Given the description of an element on the screen output the (x, y) to click on. 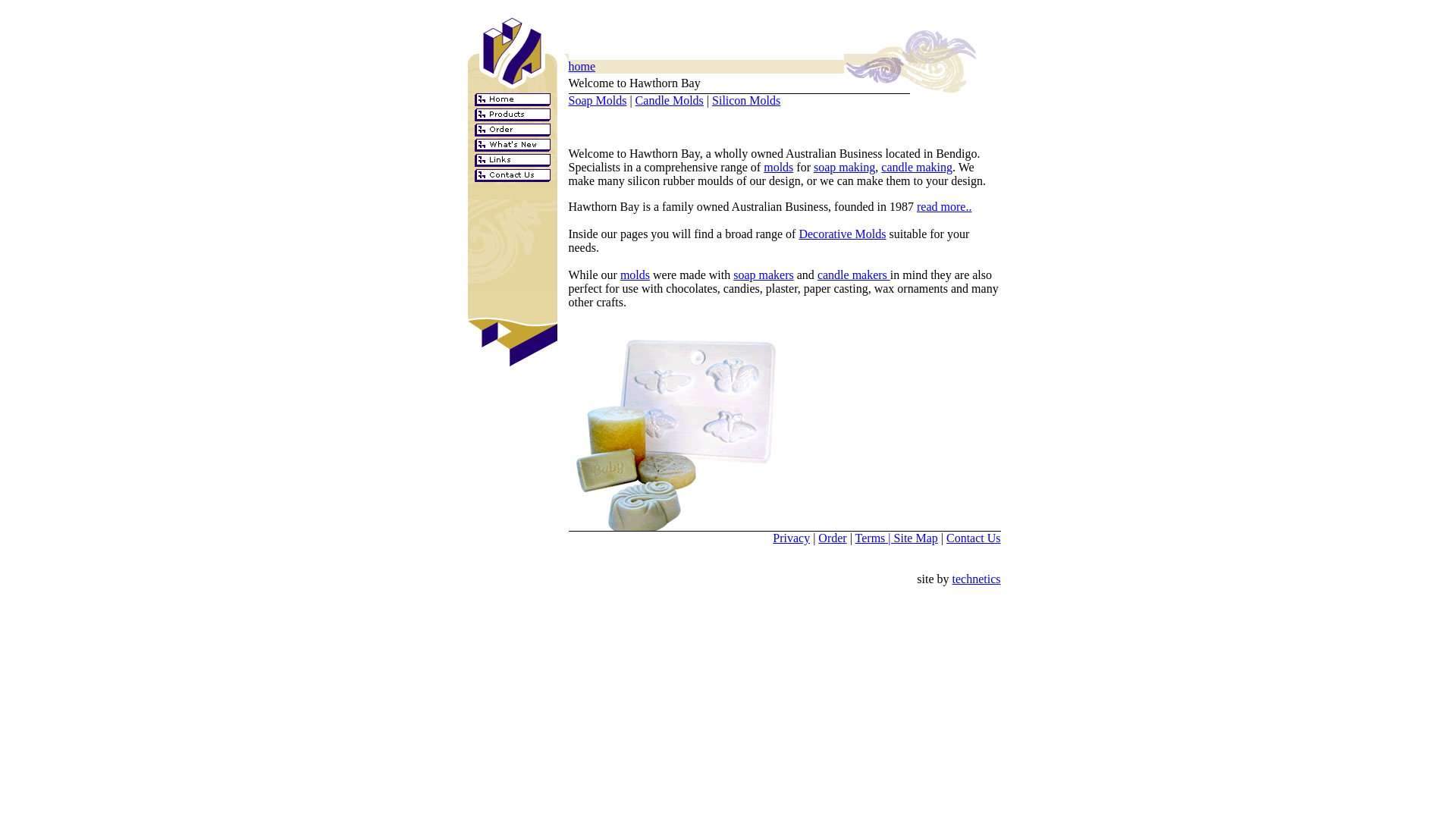
soap making Element type: text (844, 166)
Candle Molds Element type: text (669, 100)
candle makers Element type: text (853, 274)
Decorative Molds Element type: text (841, 233)
technetics Element type: text (976, 585)
Site Map Element type: text (916, 537)
candle making Element type: text (916, 166)
molds Element type: text (634, 274)
Terms | Element type: text (874, 537)
Soap Molds Element type: text (597, 100)
Silicon Molds Element type: text (746, 100)
Contact Us Element type: text (973, 537)
read more.. Element type: text (943, 206)
molds Element type: text (778, 166)
soap makers Element type: text (763, 274)
home Element type: text (582, 65)
Privacy Element type: text (790, 537)
Order Element type: text (832, 537)
